Given the description of an element on the screen output the (x, y) to click on. 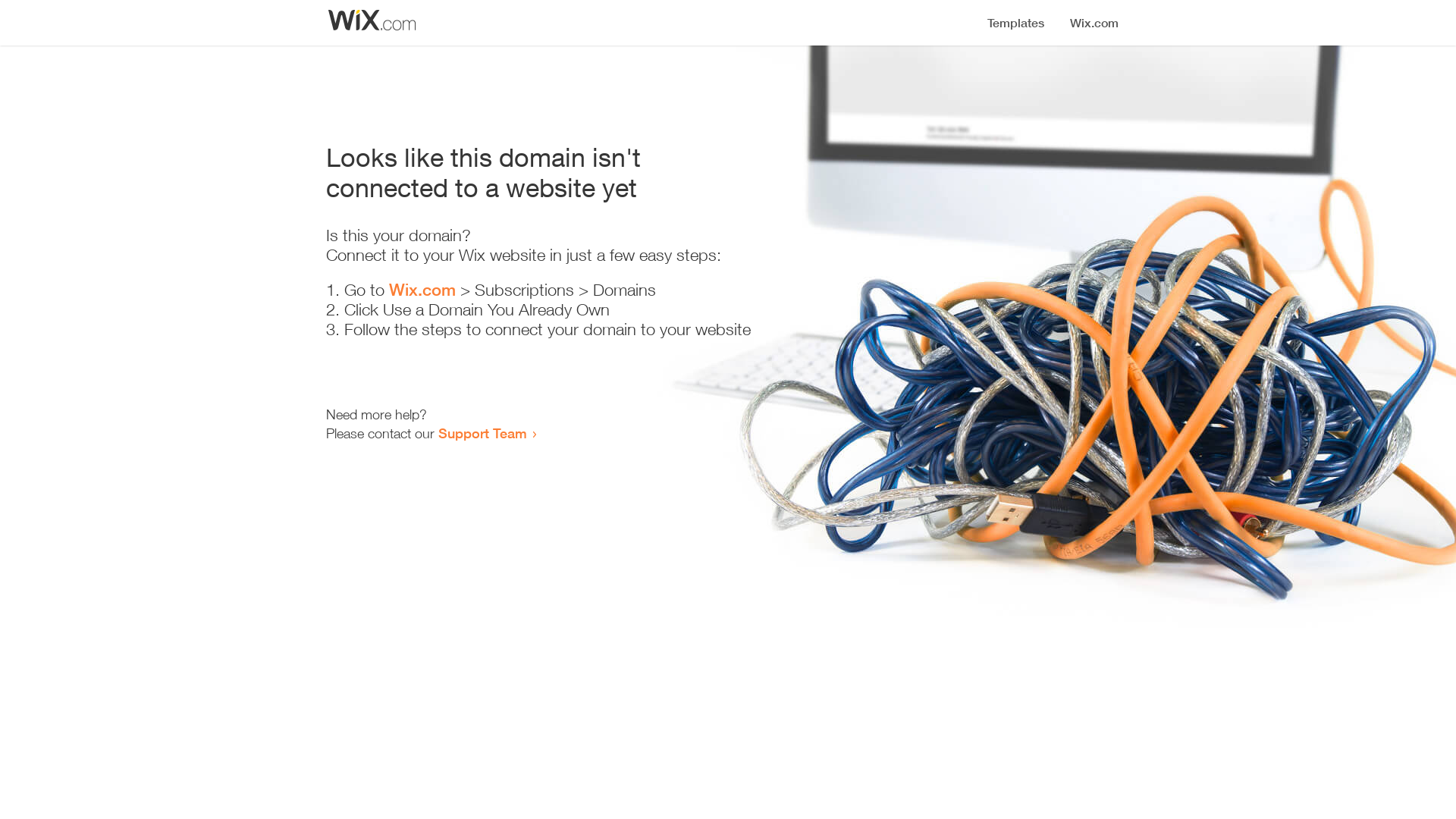
Wix.com Element type: text (422, 289)
Support Team Element type: text (482, 432)
